Given the description of an element on the screen output the (x, y) to click on. 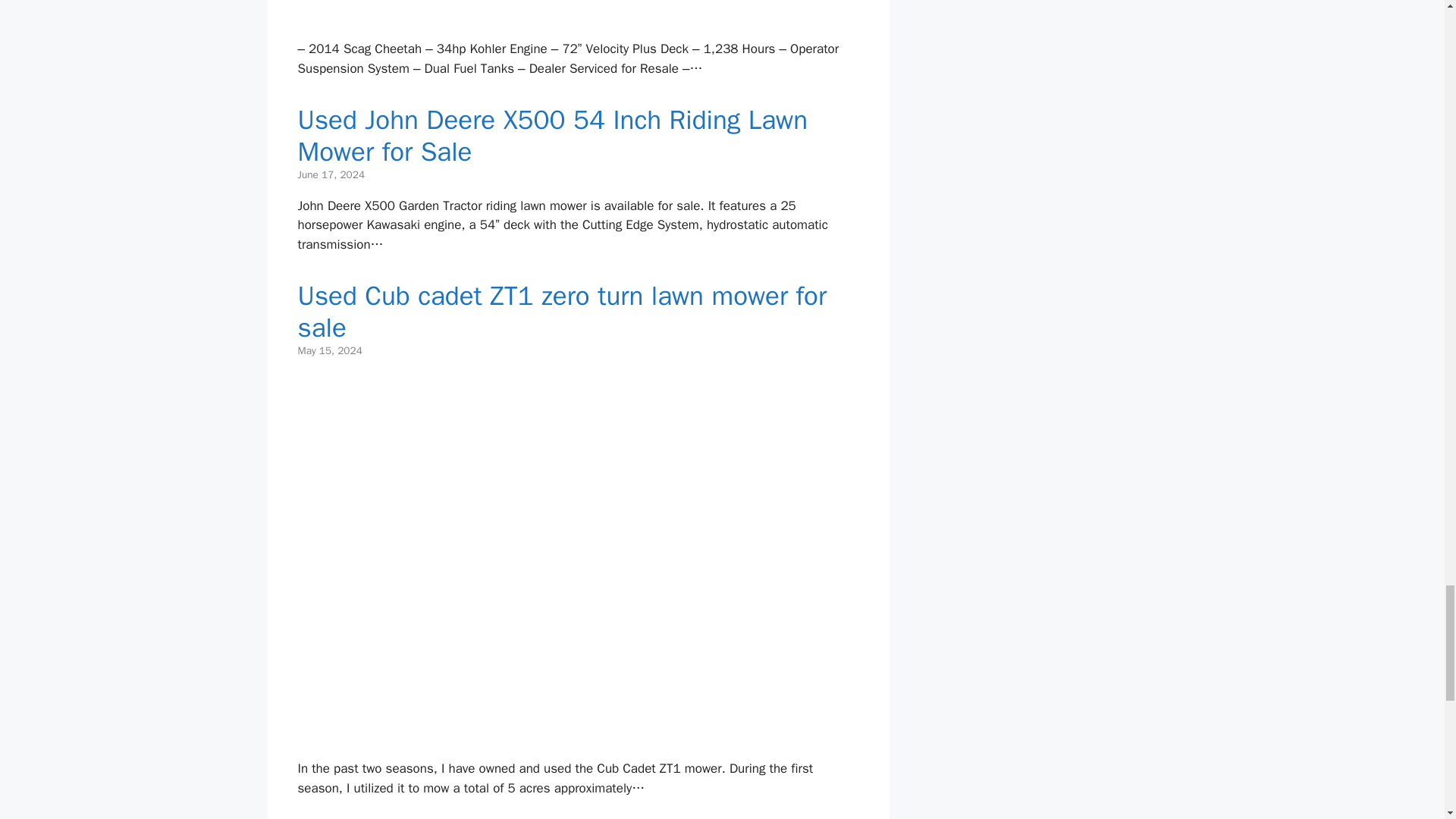
Used Cub cadet ZT1 zero turn lawn mower for sale (578, 736)
4:51 pm (331, 174)
2014 Scag Cheetah Zero Turn Lawn Mower for Sale (578, 17)
8:06 pm (329, 350)
